Given the description of an element on the screen output the (x, y) to click on. 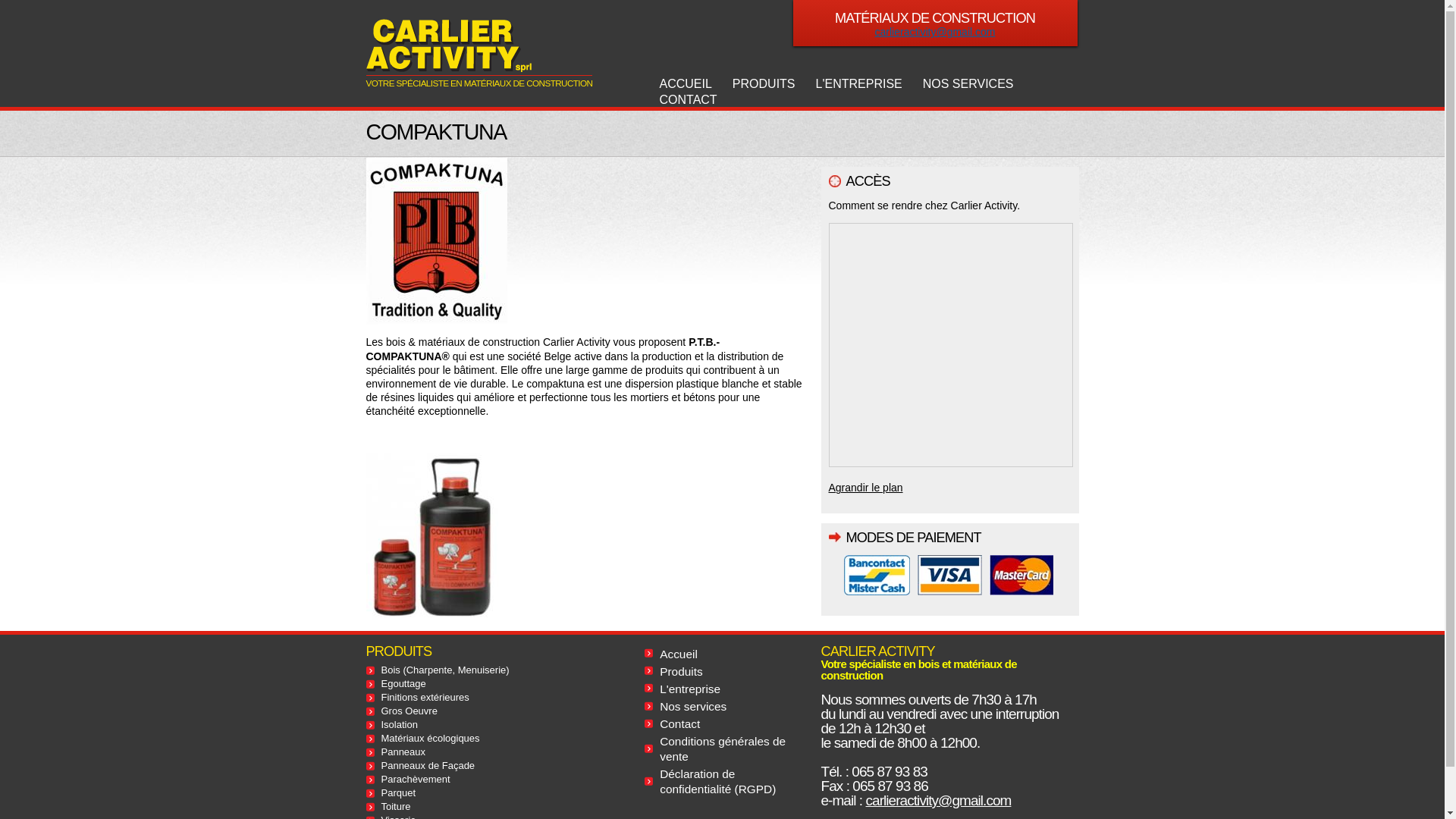
Egouttage Element type: text (402, 683)
Bois (Charpente, Menuiserie) Element type: text (444, 669)
NOS SERVICES Element type: text (967, 84)
carlieractivity@gmail.com Element type: text (935, 31)
Gros Oeuvre Element type: text (408, 710)
L'entreprise Element type: text (689, 688)
Accueil Element type: text (678, 653)
Parquet Element type: text (397, 792)
PRODUITS Element type: text (763, 84)
carlieractivity@gmail.com Element type: text (938, 800)
Contact Element type: text (679, 723)
Aller au contenu principal Element type: text (695, 1)
Toiture Element type: text (395, 806)
Compaktuna.jpg Element type: text (435, 463)
L'ENTREPRISE Element type: text (858, 84)
Panneaux Element type: text (402, 751)
ACCUEIL Element type: text (685, 84)
CONTACT Element type: text (688, 100)
Isolation Element type: text (398, 724)
Produits Element type: text (680, 671)
Agrandir le plan Element type: text (865, 487)
Nos services Element type: text (692, 705)
